Given the description of an element on the screen output the (x, y) to click on. 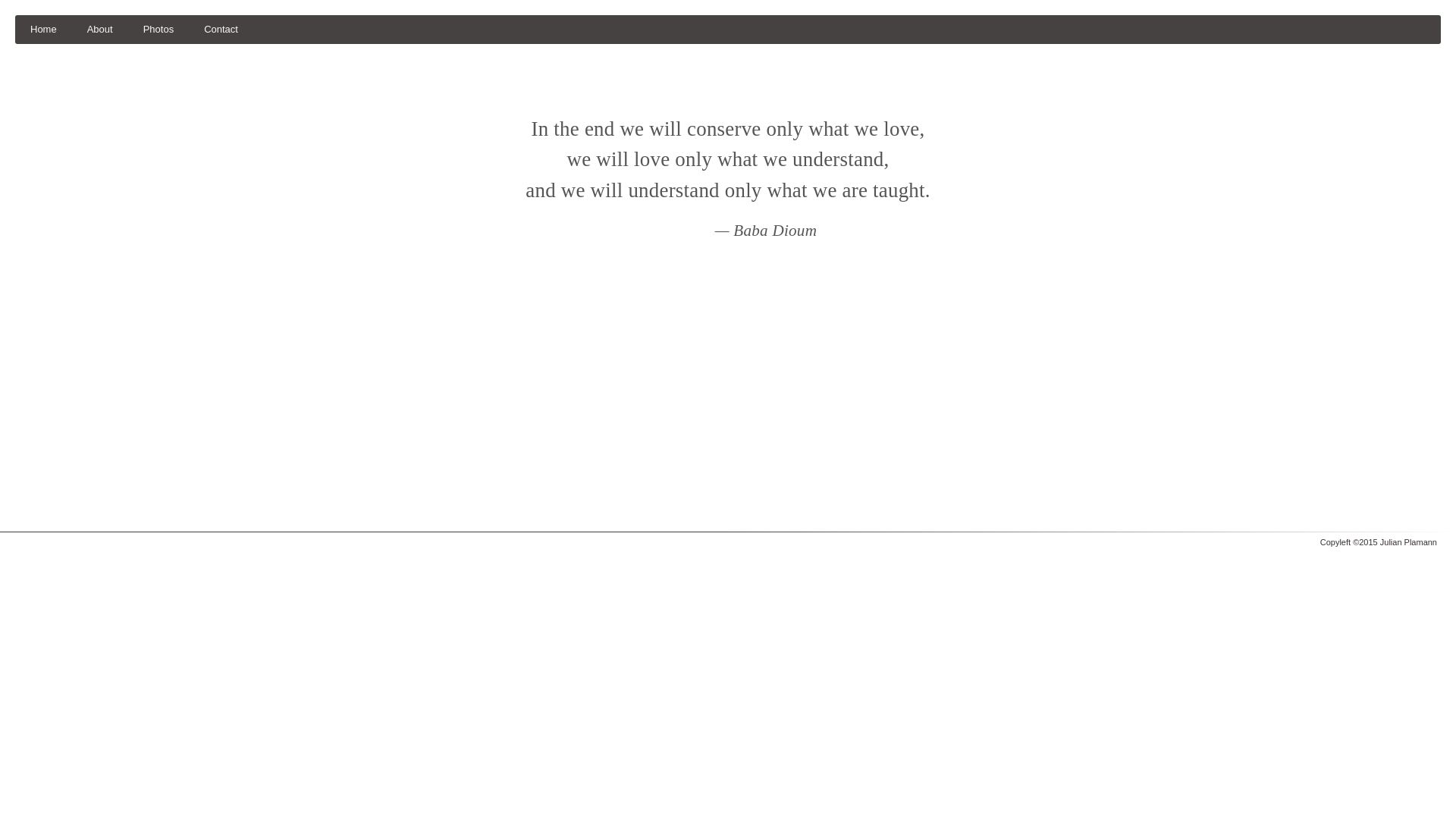
Photos Element type: text (158, 29)
About Element type: text (100, 29)
Home Element type: text (43, 29)
Contact Element type: text (220, 29)
